Given the description of an element on the screen output the (x, y) to click on. 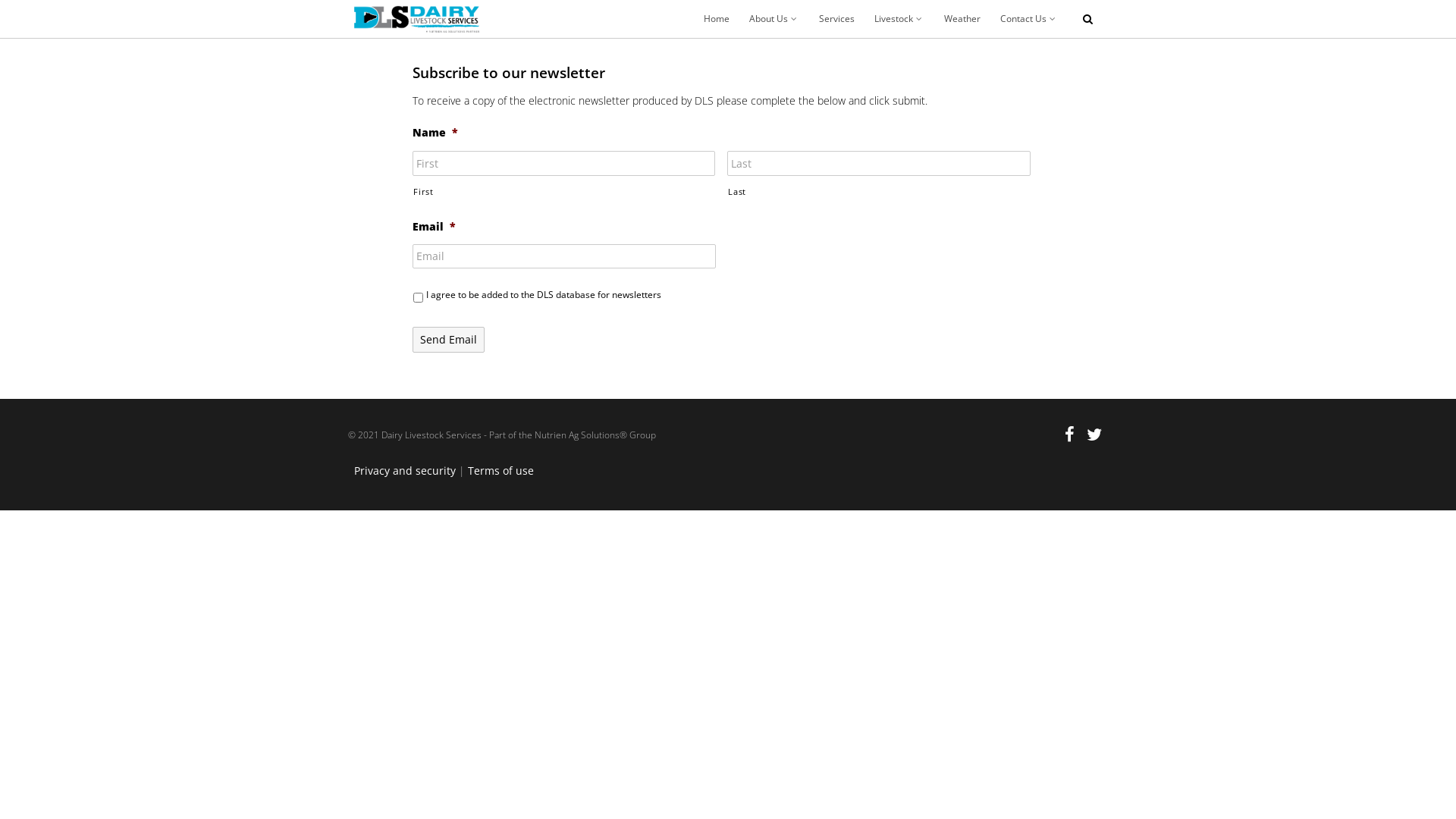
Weather Element type: text (962, 18)
Livestock Element type: text (899, 18)
Terms of use Element type: text (500, 470)
About Us Element type: text (774, 18)
Send Email Element type: text (448, 339)
Privacy and security Element type: text (404, 470)
Home Element type: text (716, 18)
Contact Us Element type: text (1028, 18)
Services Element type: text (836, 18)
Dairy Livestock Services a Nutrien AG Solutions Partner Element type: hover (416, 18)
